Given the description of an element on the screen output the (x, y) to click on. 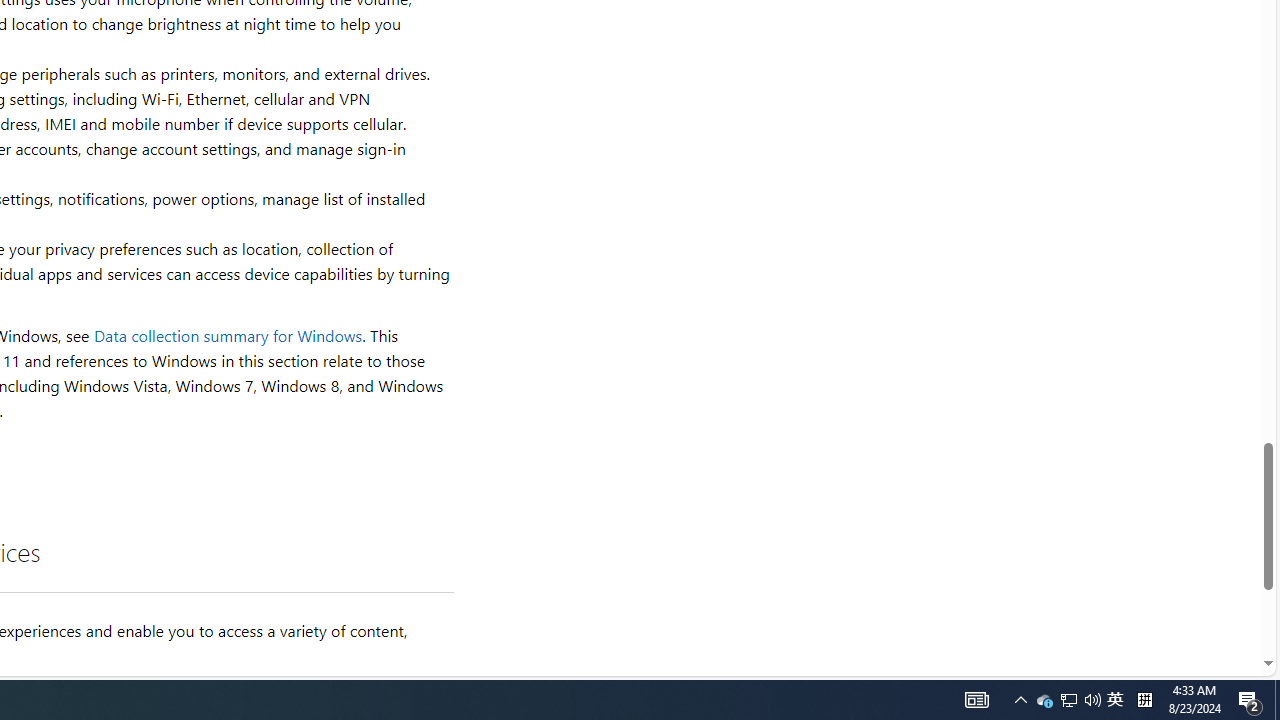
Data collection summary for Windows (228, 335)
